Given the description of an element on the screen output the (x, y) to click on. 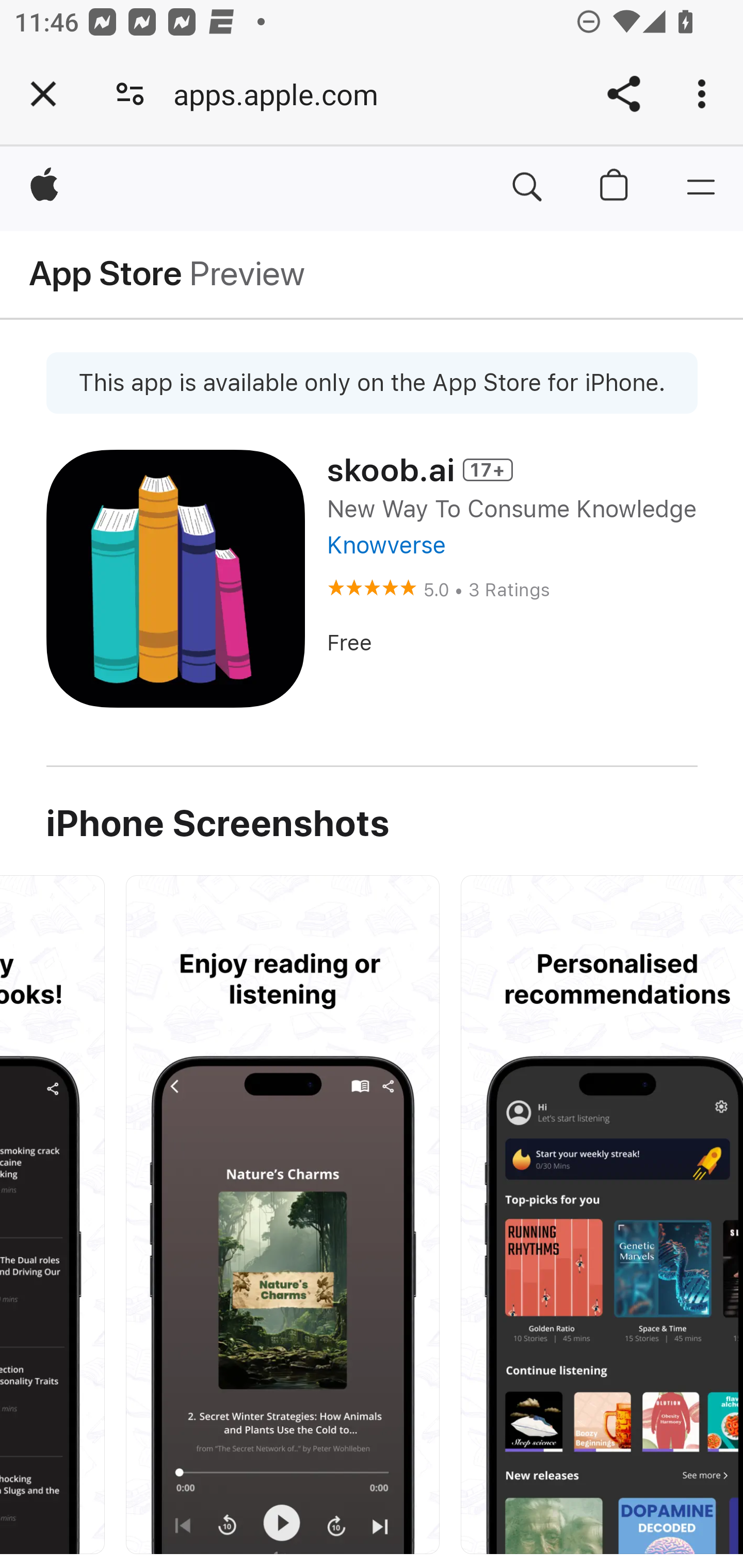
Close tab (43, 93)
Share (623, 93)
Customize and control Google Chrome (705, 93)
Connection is secure (129, 93)
apps.apple.com (282, 93)
Apple (45, 188)
Search apple.com (526, 188)
Shopping Bag (614, 188)
Menu (700, 188)
App Store (106, 274)
Knowverse (385, 544)
